Given the description of an element on the screen output the (x, y) to click on. 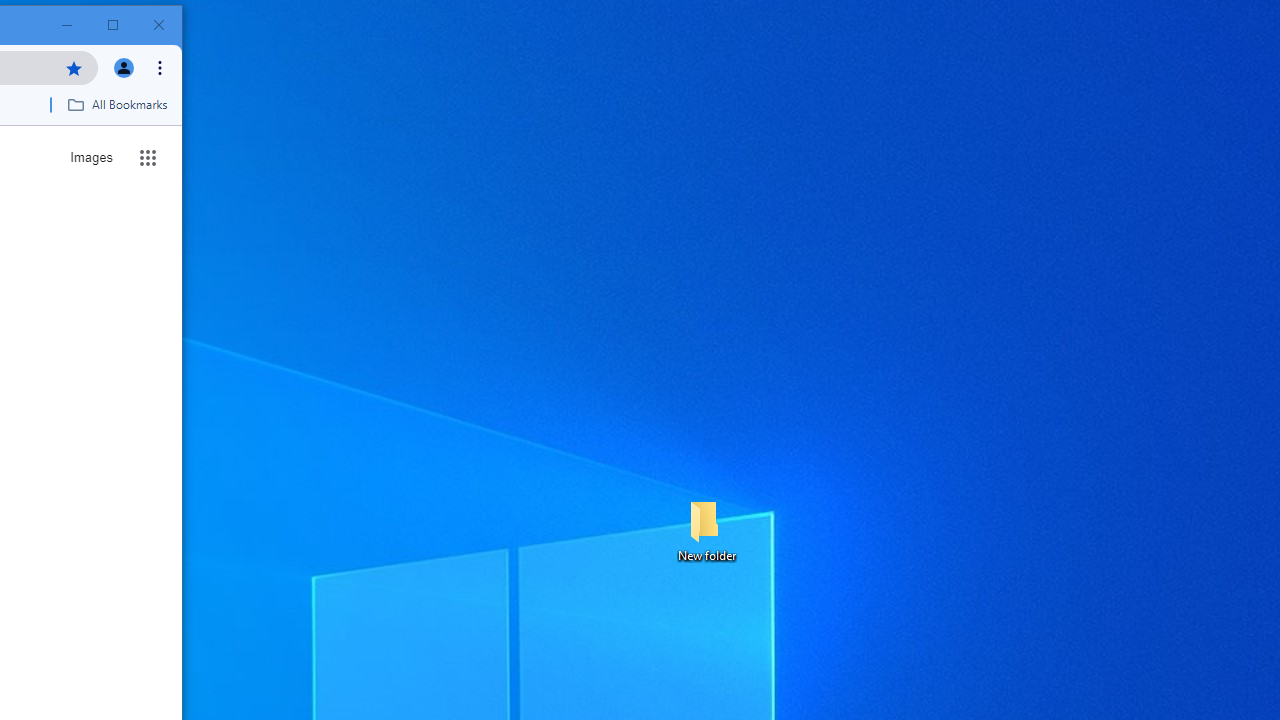
New folder (706, 530)
